Given the description of an element on the screen output the (x, y) to click on. 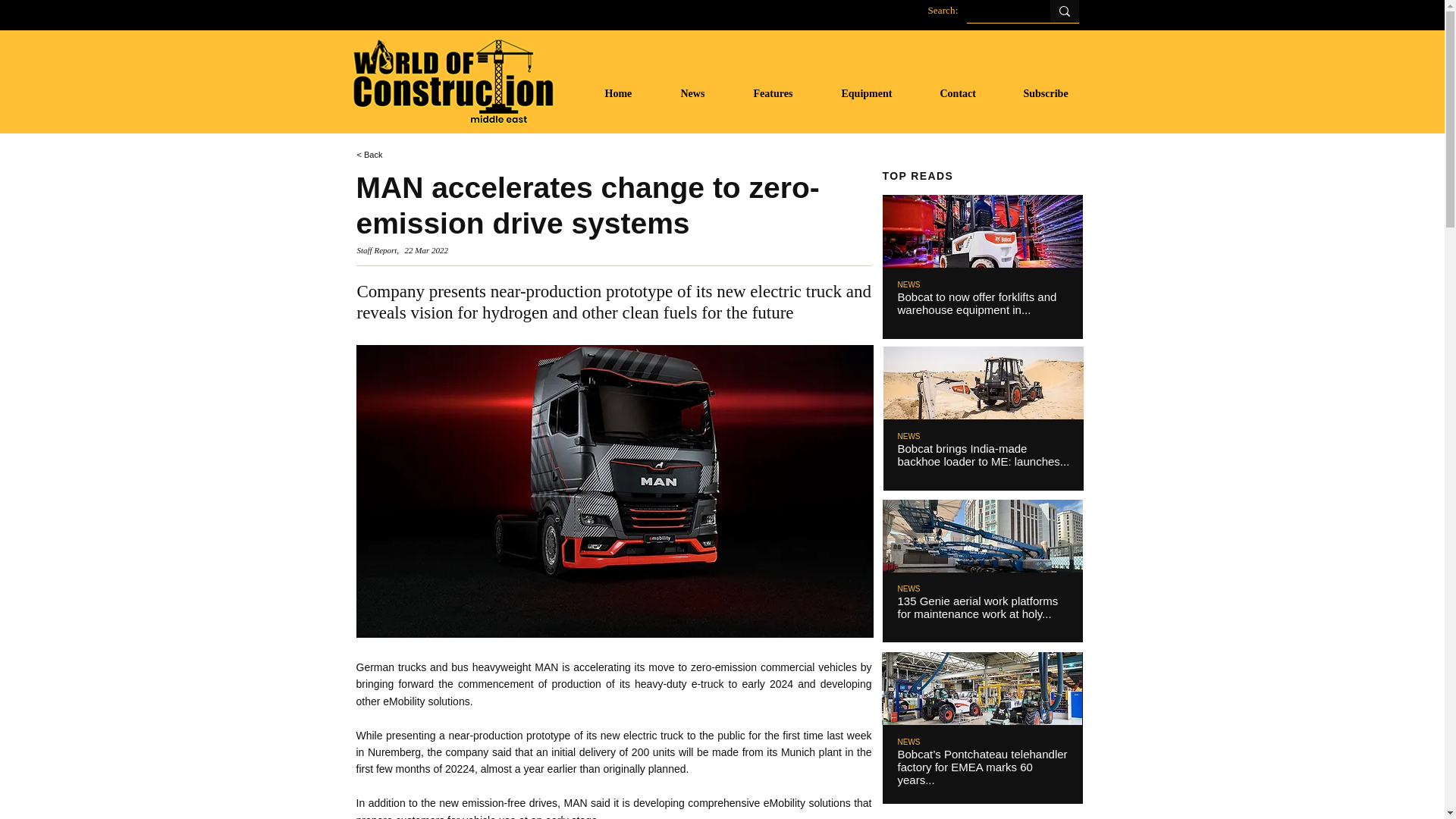
Subscribe (1057, 93)
Contact (969, 93)
News (704, 93)
Bobcat to now offer forklifts and warehouse equipment in... (977, 303)
Home (630, 93)
Features (785, 93)
Bobcat brings India-made backhoe loader to ME: launches... (984, 454)
